Given the description of an element on the screen output the (x, y) to click on. 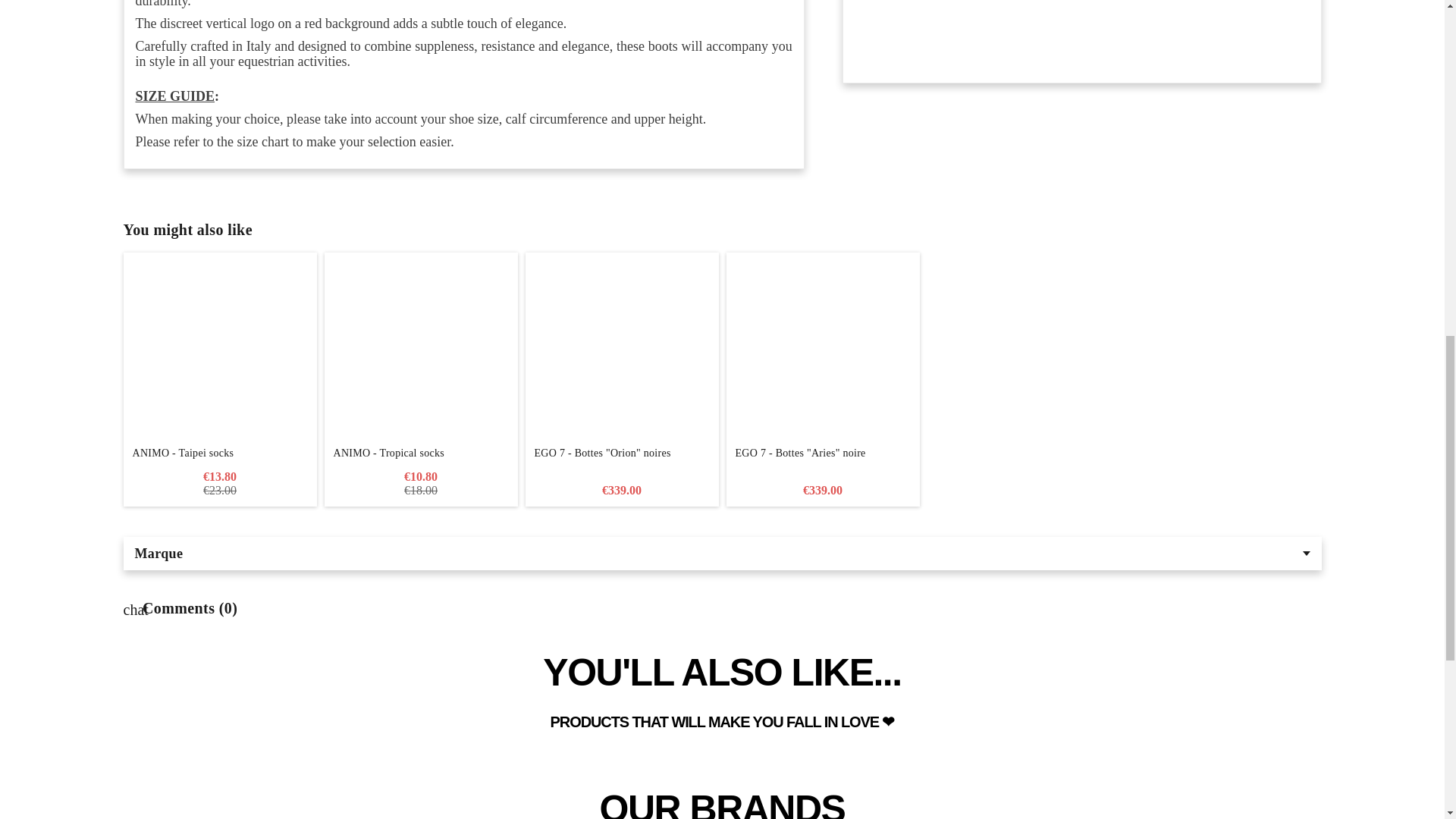
EGO 7 - Bottes "Aries" noire (823, 348)
ANIMO - Taipei socks (218, 453)
YouTube video player (1081, 26)
EGO 7 - Bottes "Aries" noire (823, 460)
ANIMO - Taipei socks (218, 348)
ANIMO - Tropical socks (421, 453)
ANIMO - Tropical socks (421, 348)
EGO 7 - Bottes "Orion" noires (620, 348)
EGO 7 - Bottes "Orion" noires (620, 460)
